Given the description of an element on the screen output the (x, y) to click on. 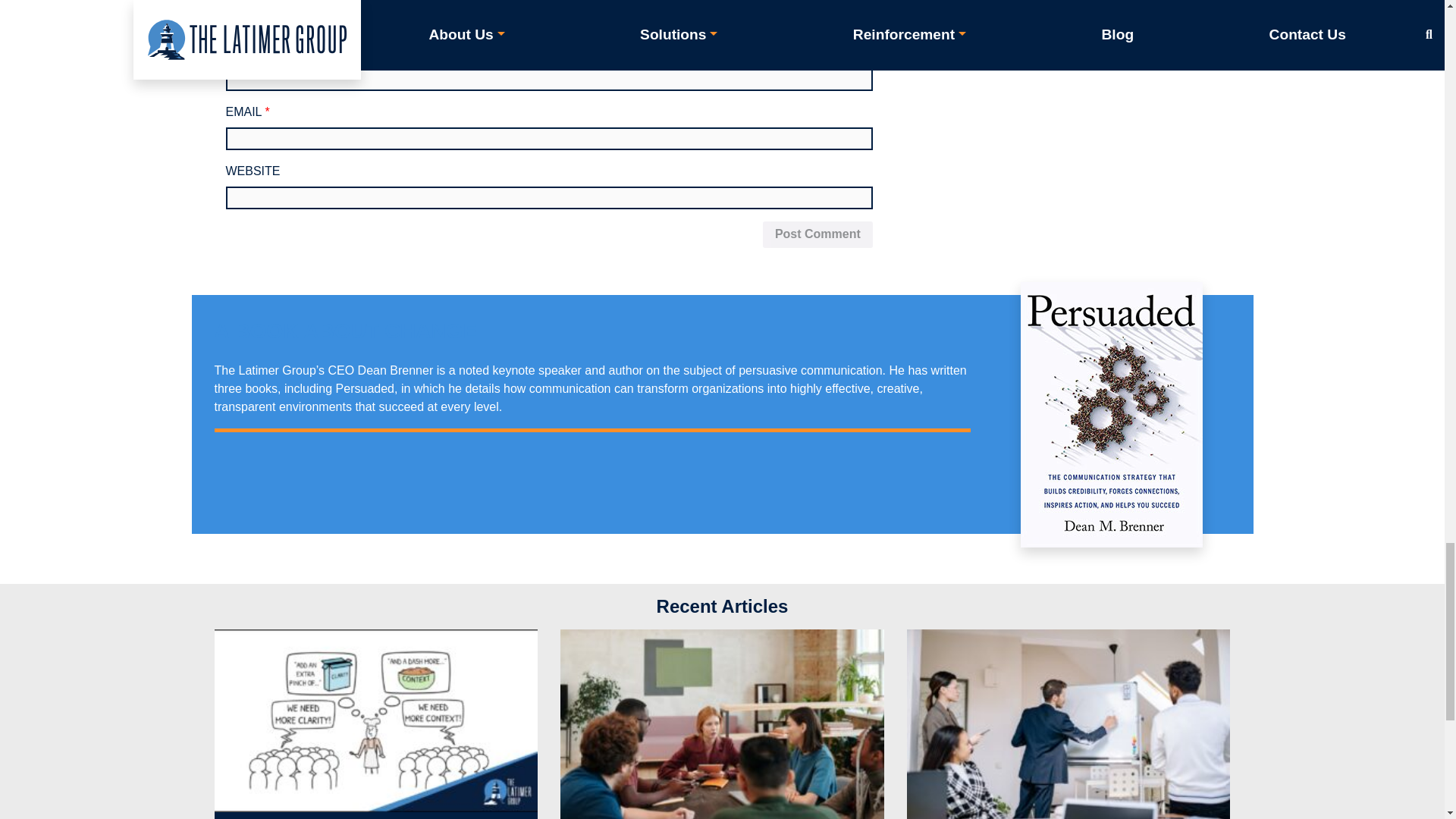
Post Comment (817, 234)
